Given the description of an element on the screen output the (x, y) to click on. 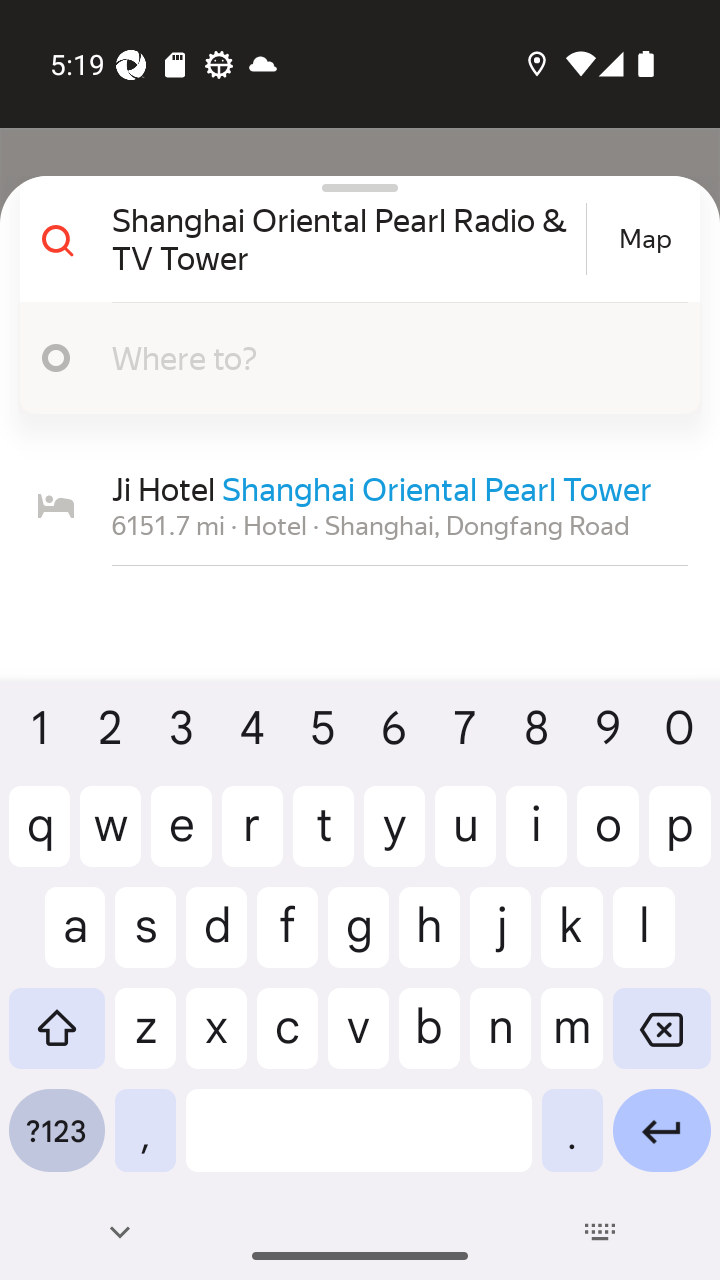
Shanghai Oriental Pearl Radio & TV Tower Map Map (352, 239)
Map (645, 239)
Shanghai Oriental Pearl Radio & TV Tower (346, 238)
Where to? (352, 357)
Where to? (390, 357)
